Given the description of an element on the screen output the (x, y) to click on. 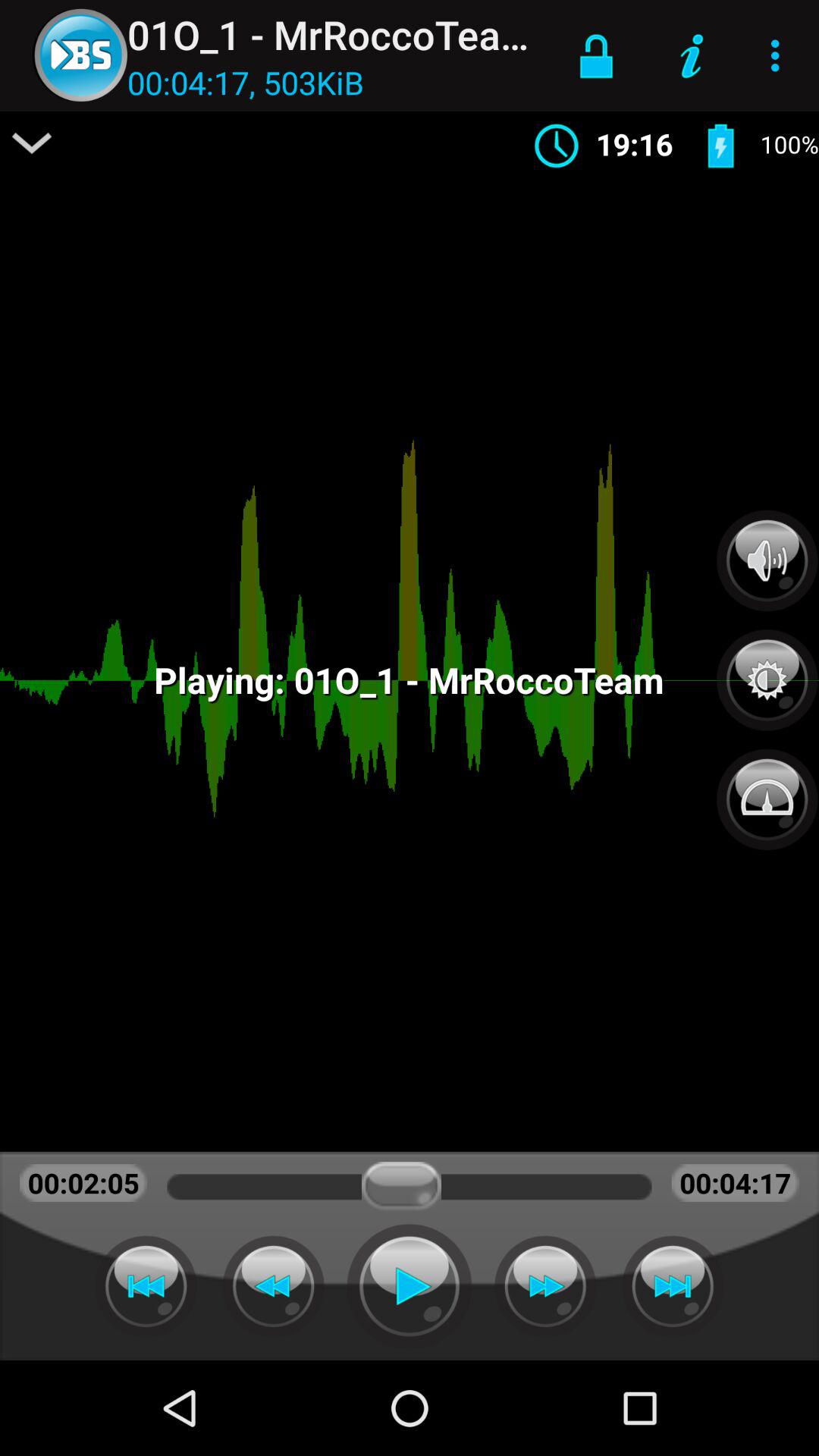
show drop-down menu (31, 143)
